Given the description of an element on the screen output the (x, y) to click on. 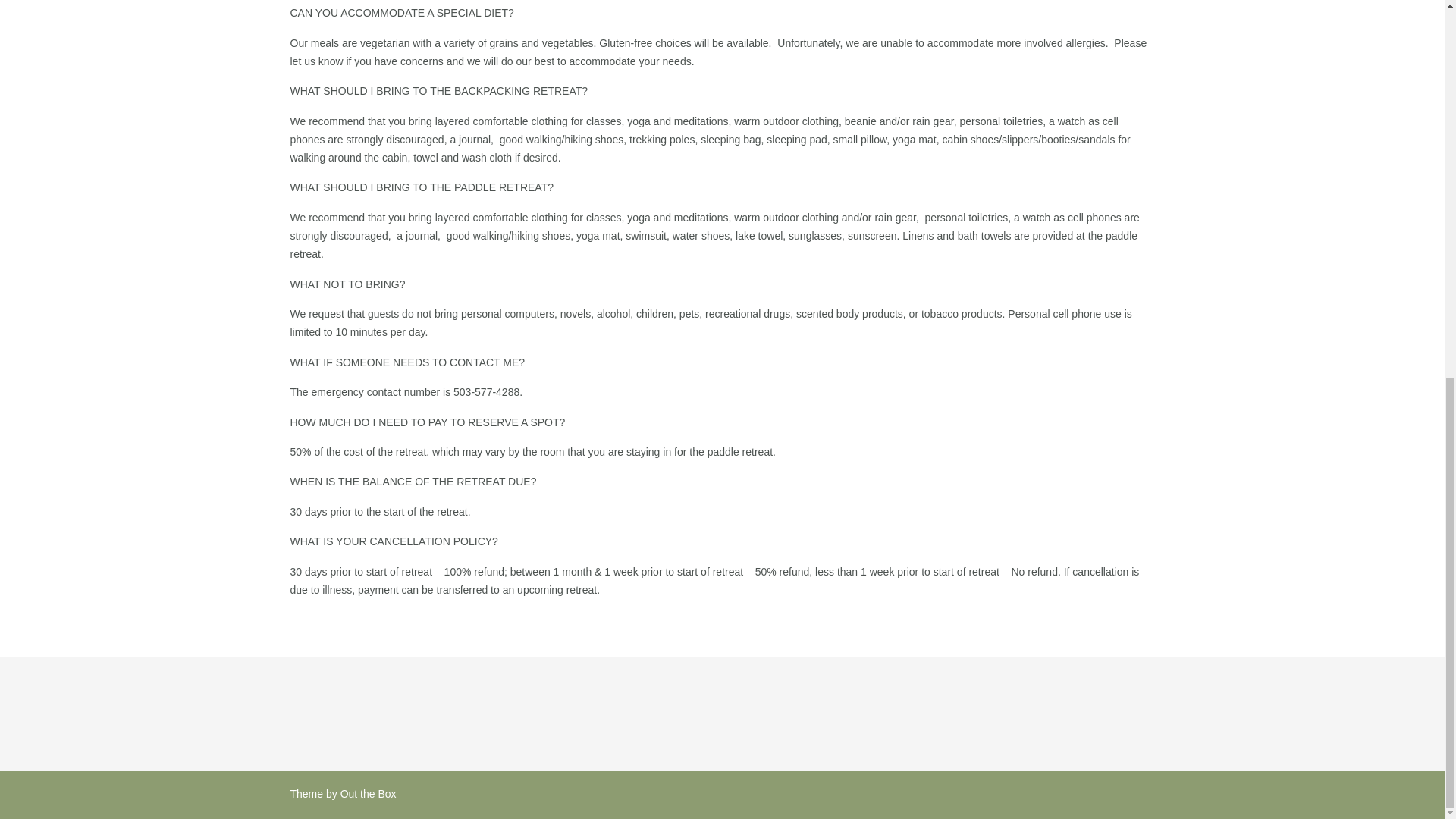
Out the Box (368, 793)
